Given the description of an element on the screen output the (x, y) to click on. 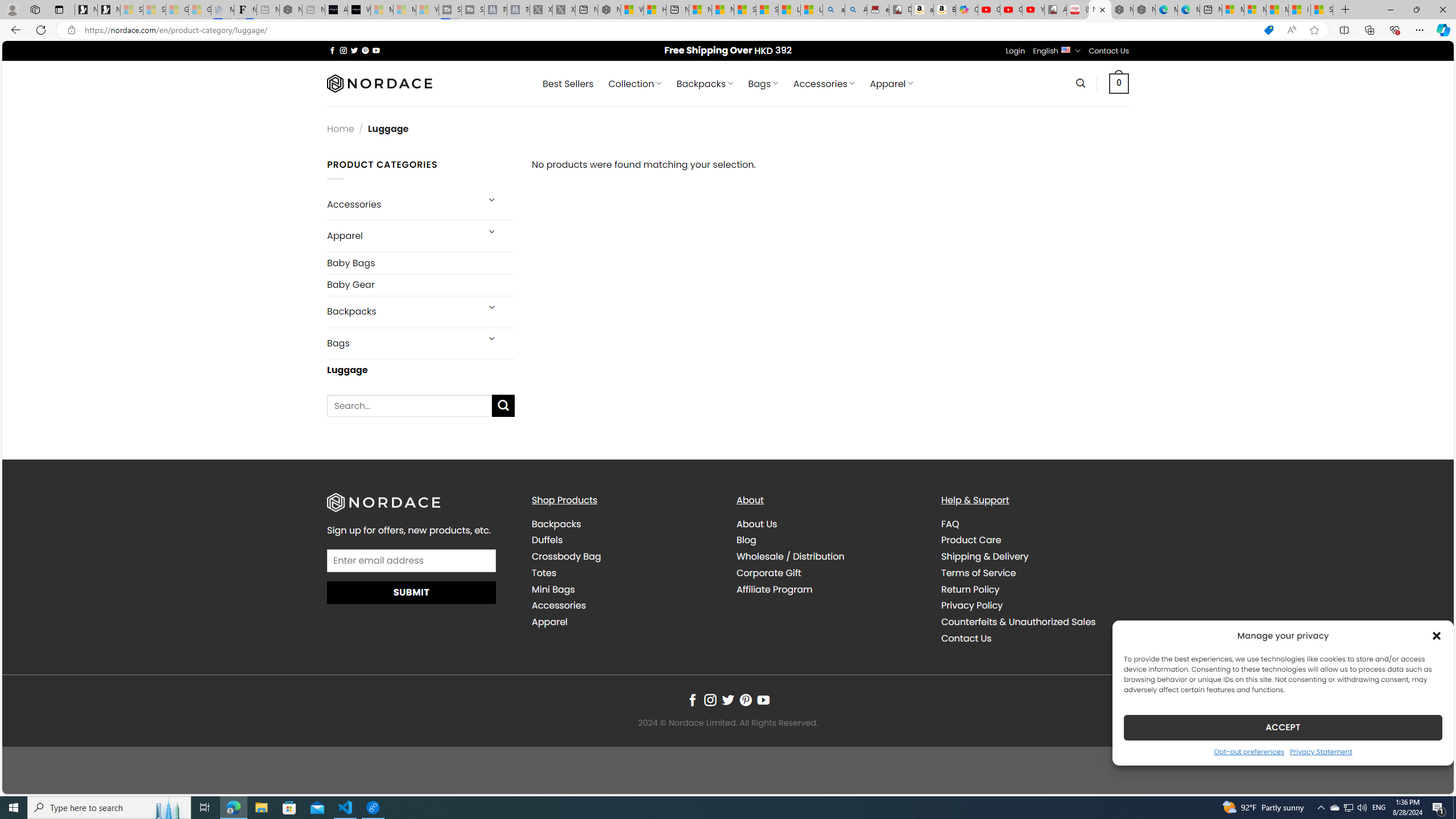
About Us (756, 523)
YouTube Kids - An App Created for Kids to Explore Content (1033, 9)
